Given the description of an element on the screen output the (x, y) to click on. 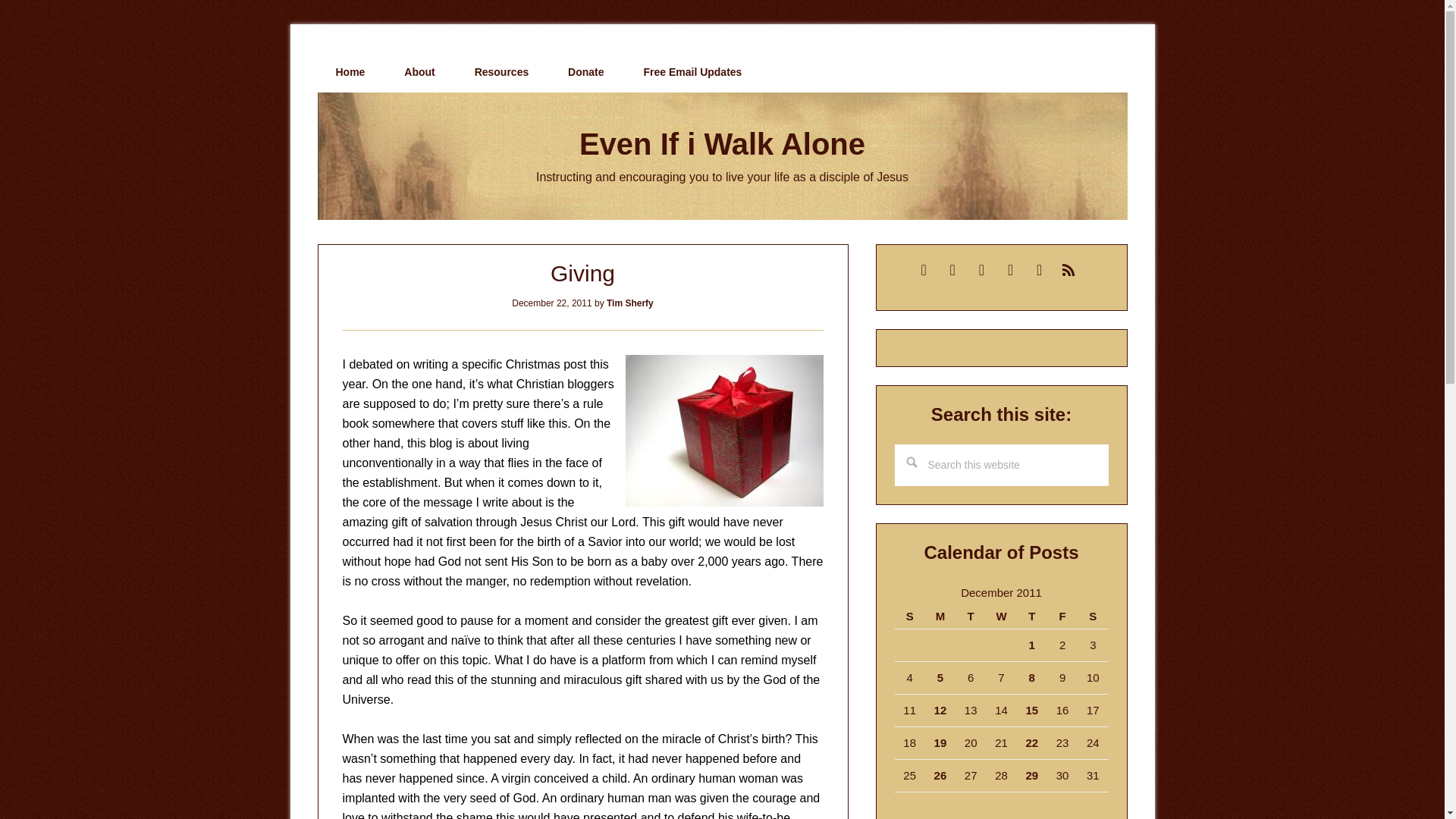
15 (1031, 709)
Even If i Walk Alone (721, 143)
Facebook (1010, 268)
mail (923, 268)
facebook (1010, 268)
Home (349, 71)
19 (940, 742)
Twitter (981, 268)
Free Email Updates (692, 71)
Tim Sherfy (630, 303)
Resources (502, 71)
Donate (585, 71)
twitter (981, 268)
